Given the description of an element on the screen output the (x, y) to click on. 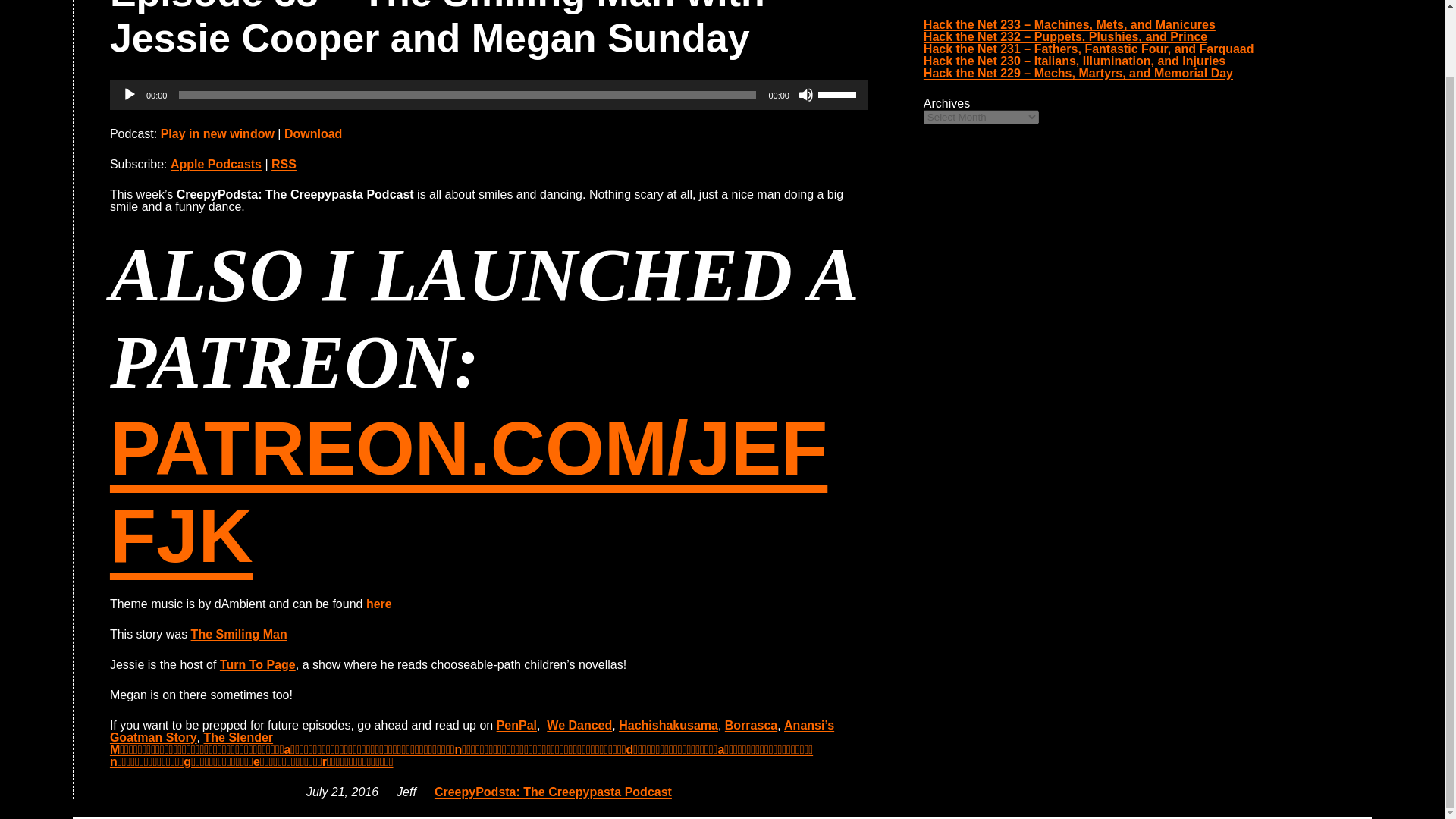
Mute (805, 94)
Download (312, 133)
Play in new window (217, 133)
Turn To Page (257, 664)
CreepyPodsta: The Creepypasta Podcast (552, 791)
The Smiling Man (238, 634)
Subscribe on Apple Podcasts (216, 164)
Hachishakusama (667, 725)
Play in new window (217, 133)
Subscribe via RSS (283, 164)
RSS (283, 164)
PenPal (516, 725)
We Danced (579, 725)
here (378, 603)
Apple Podcasts (216, 164)
